Given the description of an element on the screen output the (x, y) to click on. 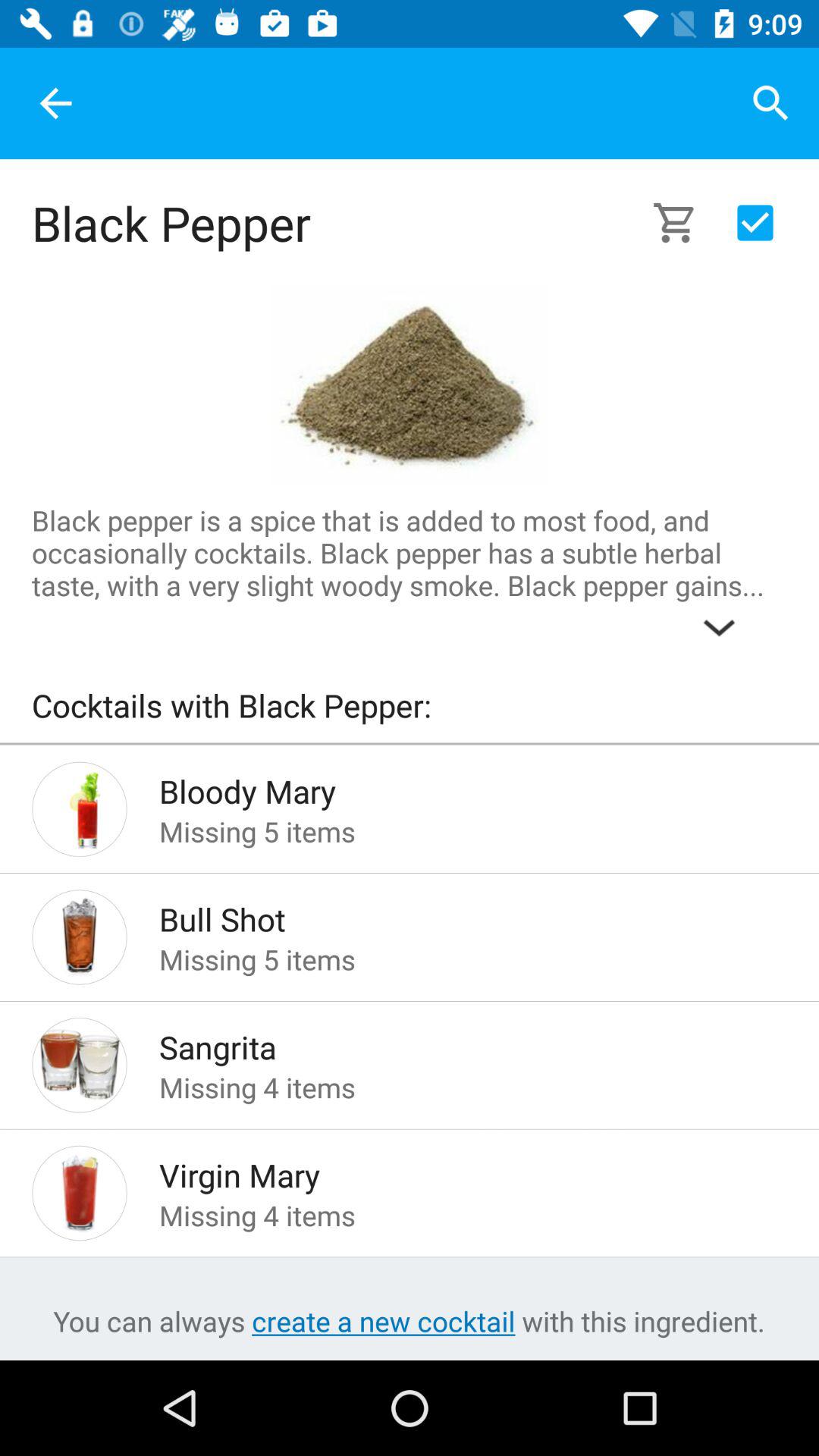
click on the approve symbol (755, 222)
